Given the description of an element on the screen output the (x, y) to click on. 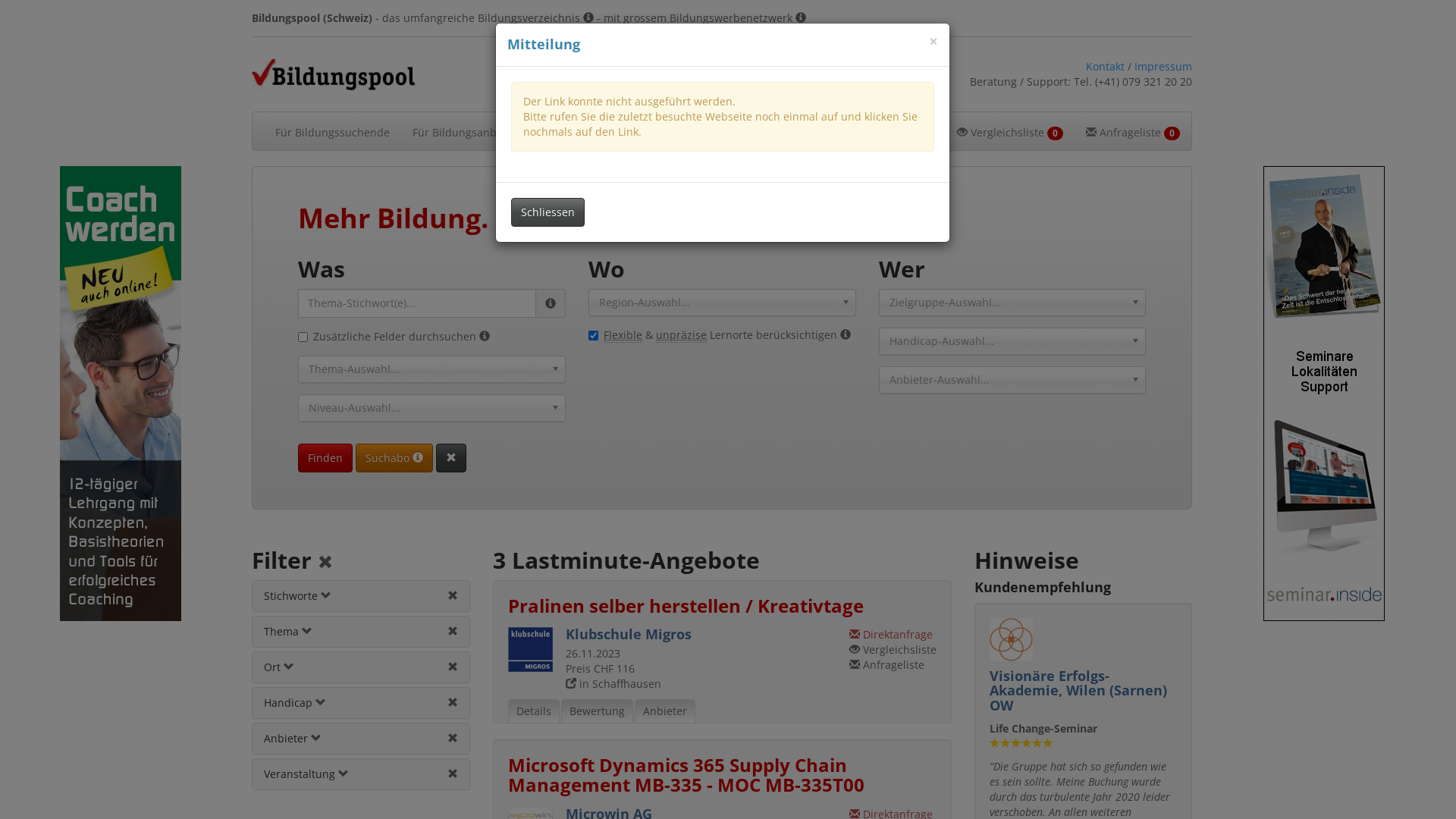
 Anfrageliste Element type: text (886, 664)
Vergleichsliste 0 Element type: text (1009, 131)
Details Element type: text (533, 711)
Handicap-Auswahl... Element type: text (1012, 340)
 Vergleichsliste Element type: text (892, 649)
Zielgruppe-Auswahl... Element type: text (1012, 302)
Impressum Element type: text (1163, 66)
Anbieter Element type: text (664, 711)
Thema-Auswahl... Element type: text (431, 368)
Suchabo Element type: text (394, 457)
Thema Element type: text (287, 631)
Kontakt Element type: text (1104, 66)
Handicap Element type: text (294, 702)
Region-Auswahl... Element type: text (722, 302)
Niveau-Auswahl... Element type: text (431, 407)
Stichworte Element type: text (297, 595)
 Direktanfrage Element type: text (890, 634)
in Schaffhausen Element type: text (613, 683)
Bewertung Element type: text (597, 711)
Anbieter Element type: text (292, 738)
Finden Element type: text (325, 457)
Anfrageliste 0 Element type: text (1132, 131)
Ort Element type: text (278, 666)
Anbieter-Auswahl... Element type: text (1012, 379)
Veranstaltung Element type: text (305, 773)
Schliessen Element type: text (547, 211)
